Given the description of an element on the screen output the (x, y) to click on. 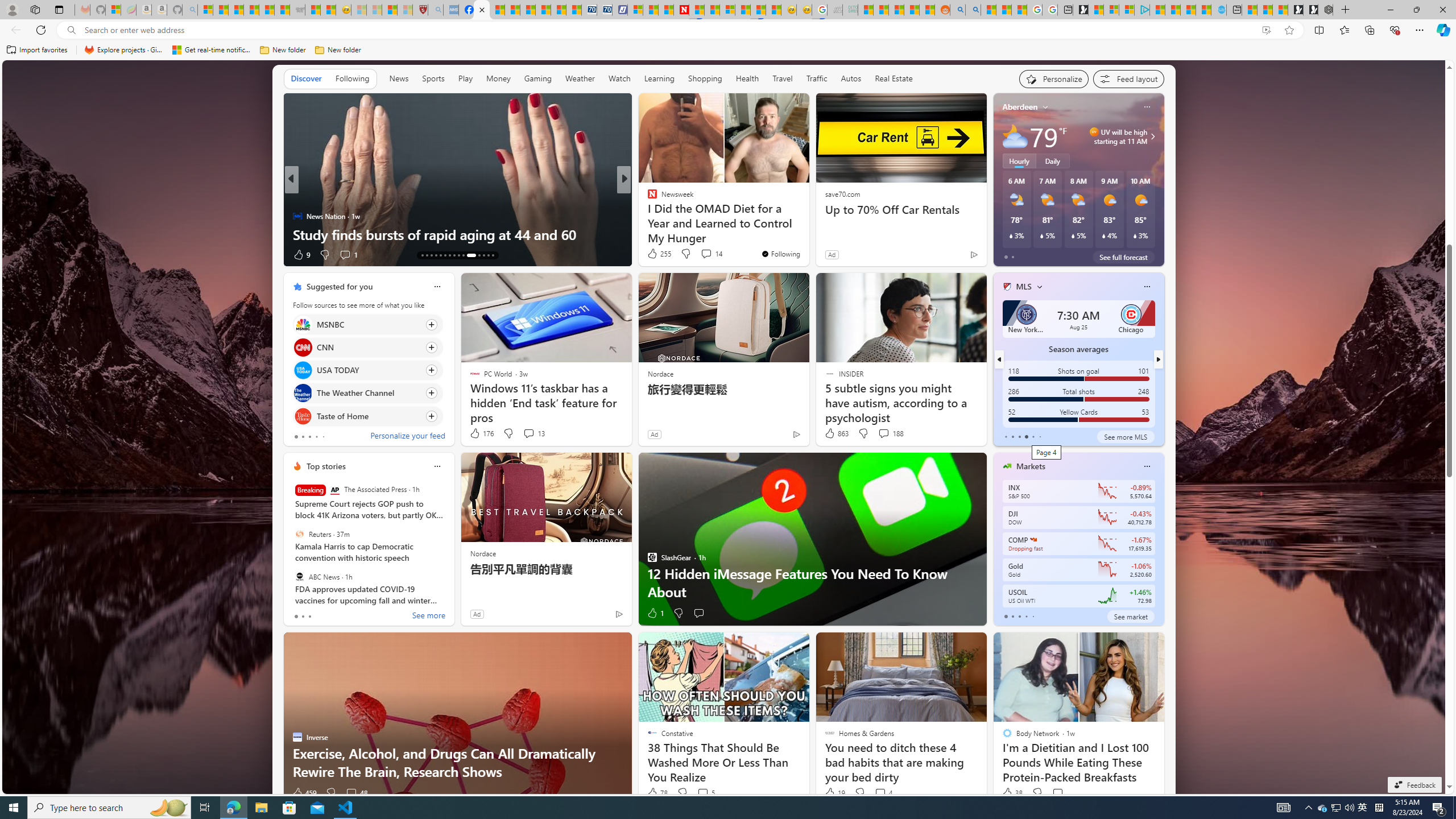
AutomationID: backgroundImagePicture (723, 426)
ABC News (299, 576)
AutomationID: tab-72 (449, 255)
View comments 5 Comment (705, 792)
The Associated Press (334, 490)
Shopping (705, 78)
